Given the description of an element on the screen output the (x, y) to click on. 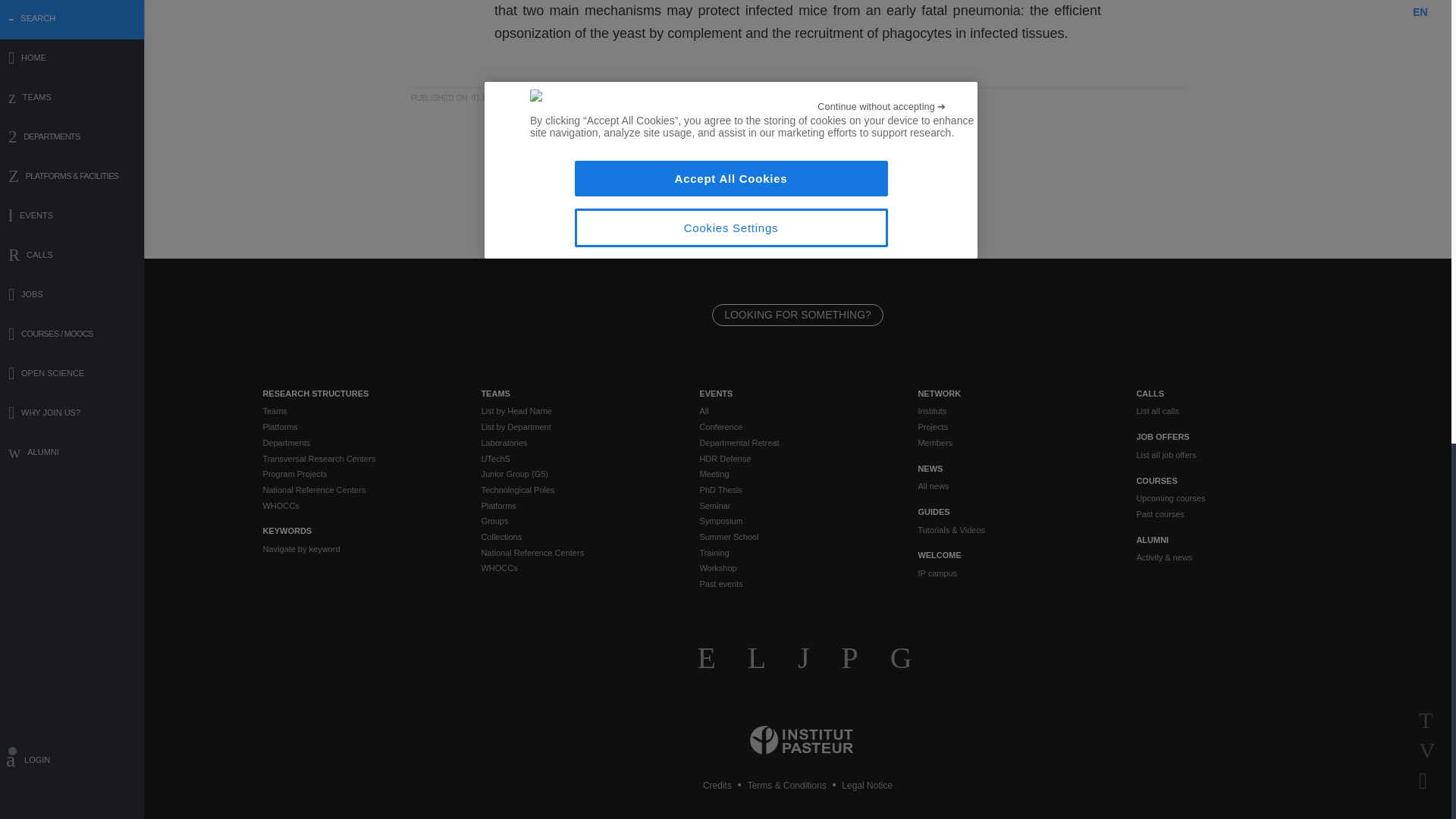
Platforms (360, 427)
Teams (360, 411)
Departments (360, 442)
Transversal Research Centers (360, 458)
